Given the description of an element on the screen output the (x, y) to click on. 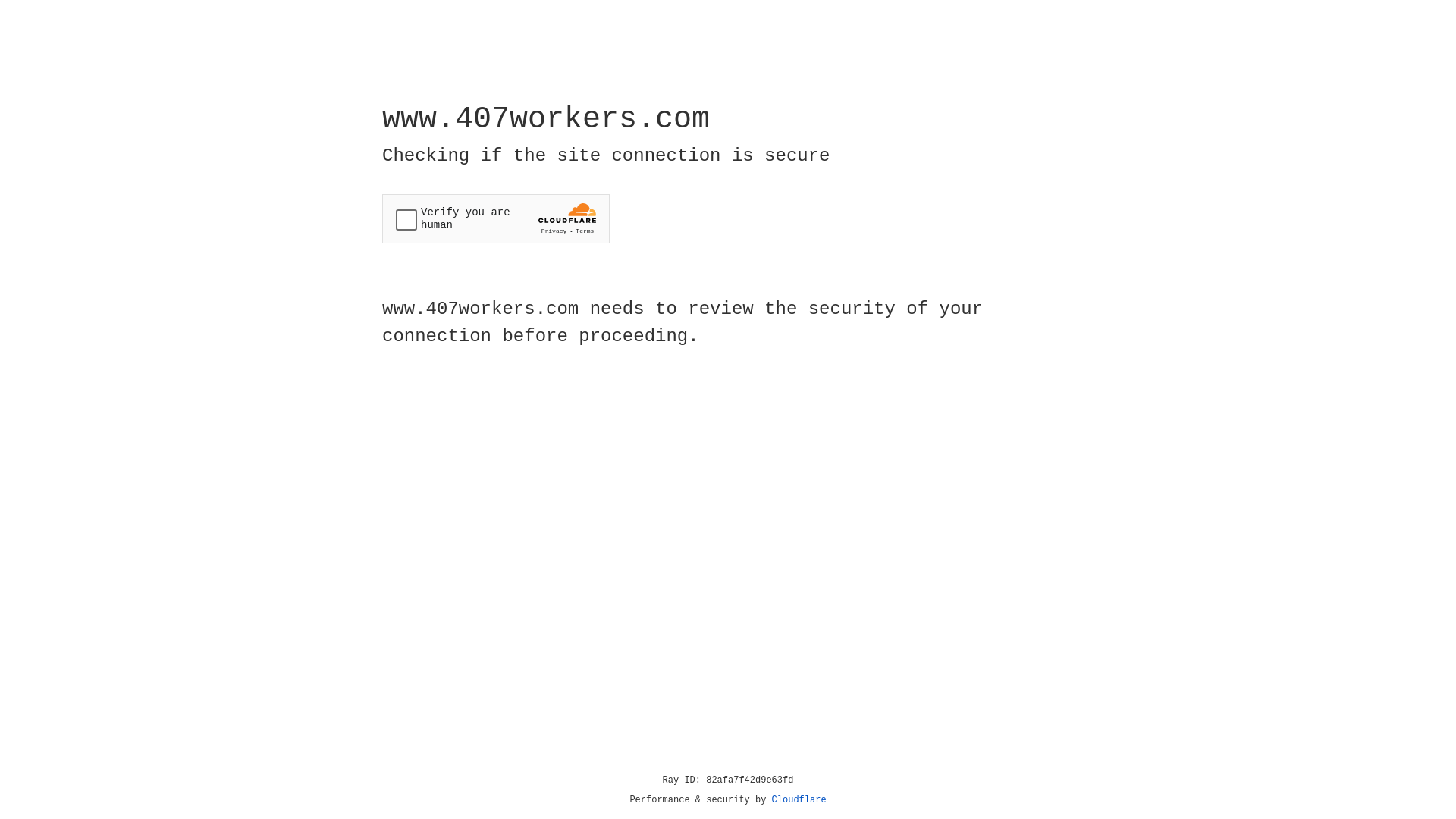
Widget containing a Cloudflare security challenge Element type: hover (495, 218)
Cloudflare Element type: text (798, 799)
